Given the description of an element on the screen output the (x, y) to click on. 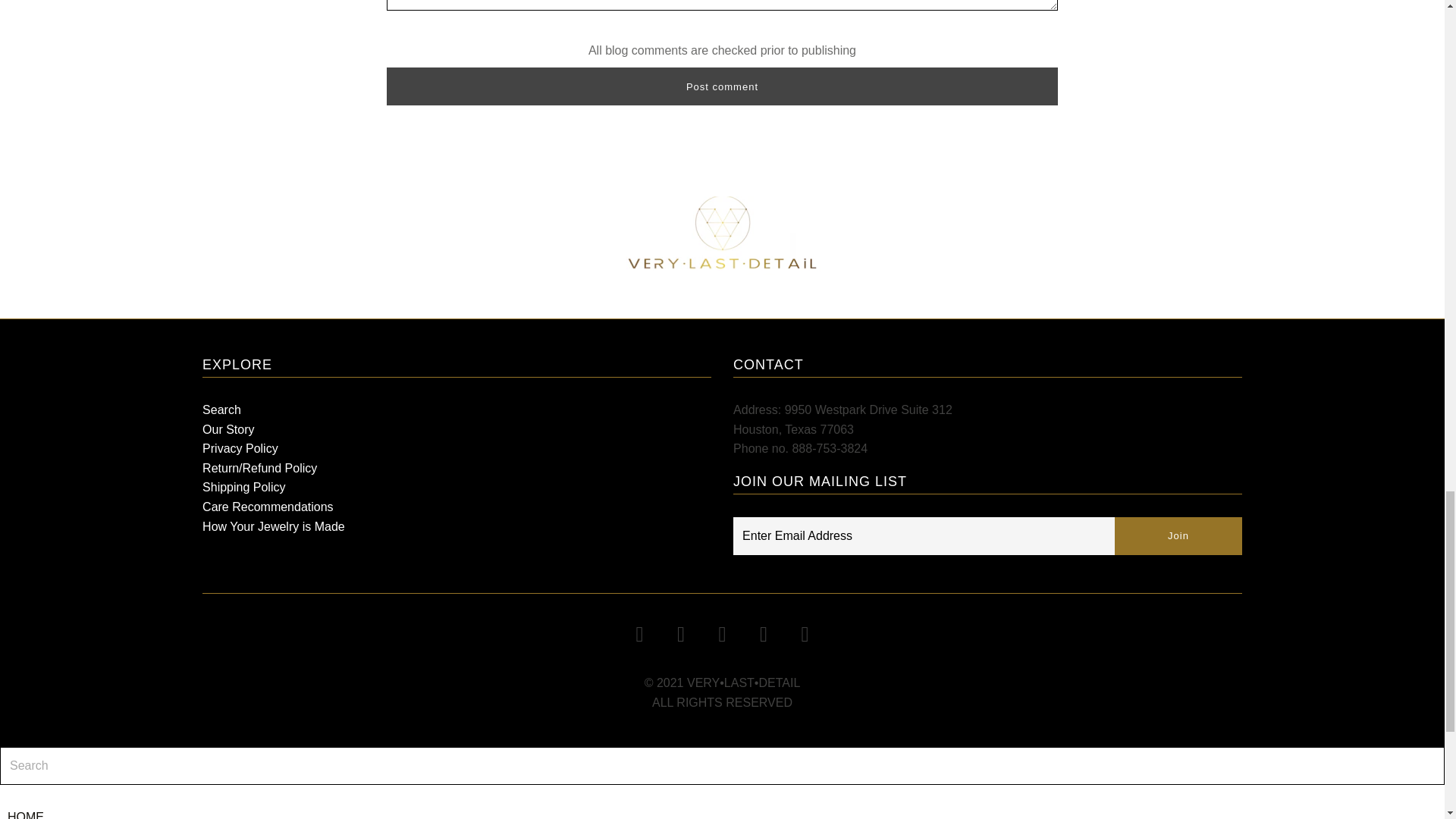
Care Recommendations (267, 506)
How Your Jewelry is Made (273, 526)
Privacy Policy (240, 448)
Join (1178, 535)
Search (221, 409)
Join (1178, 535)
Our Story (227, 429)
Shipping Policy (243, 486)
Post comment (722, 86)
Post comment (722, 86)
